Given the description of an element on the screen output the (x, y) to click on. 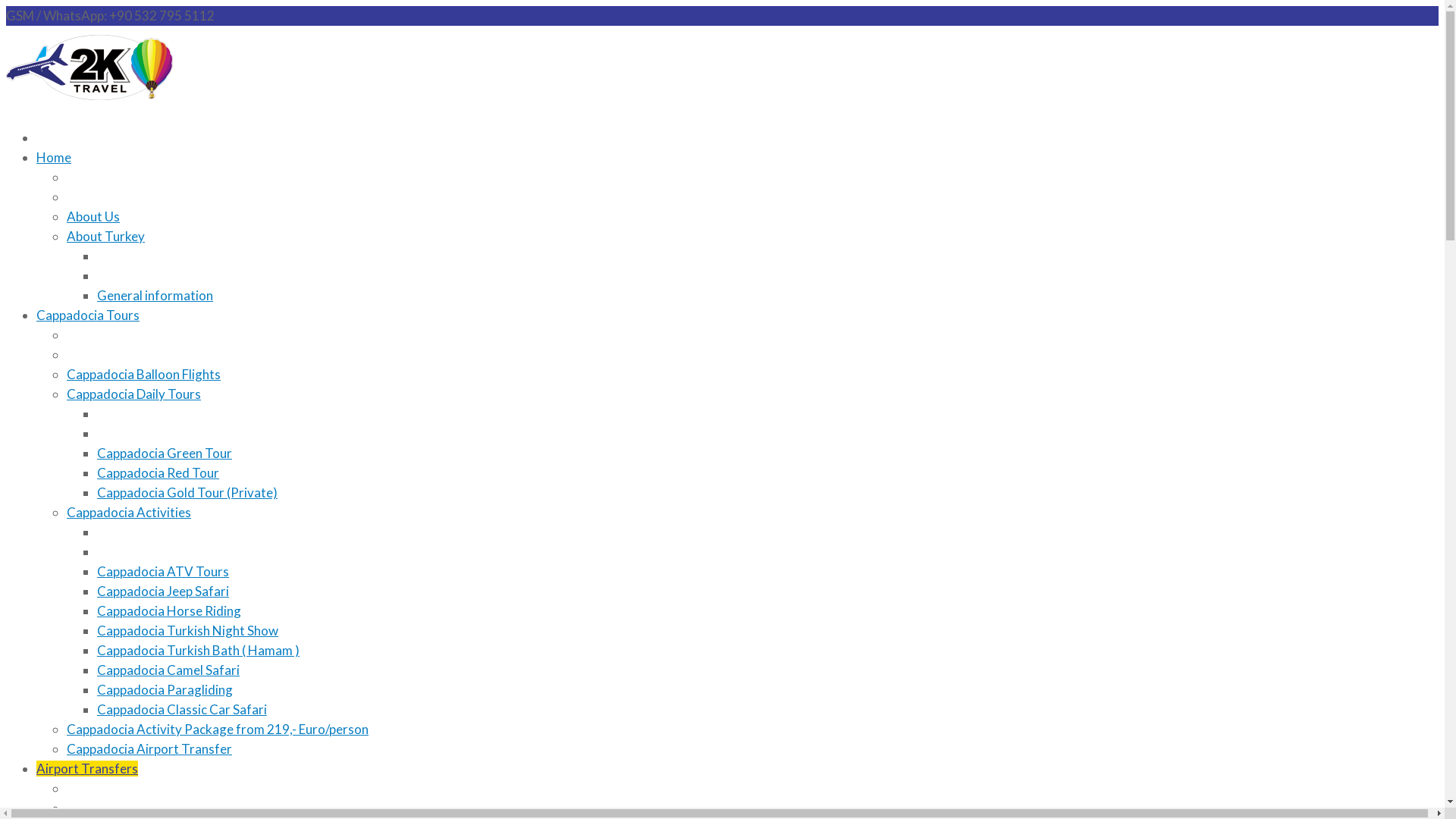
2K Travel Turkey Element type: hover (89, 67)
About Turkey Element type: text (105, 236)
Airport Transfers Element type: text (87, 768)
Cappadocia Camel Safari Element type: text (168, 669)
Home Element type: text (53, 157)
Cappadocia Turkish Bath ( Hamam ) Element type: text (198, 650)
About Us Element type: text (92, 216)
Cappadocia Airport Transfer Element type: text (149, 748)
Cappadocia Activities Element type: text (128, 512)
Cappadocia Paragliding Element type: text (164, 689)
Cappadocia Tours Element type: text (87, 315)
Cappadocia Green Tour Element type: text (164, 453)
Cappadocia Gold Tour (Private) Element type: text (187, 492)
Cappadocia Red Tour Element type: text (158, 472)
Cappadocia Activity Package from 219,- Euro/person Element type: text (217, 729)
2K Travel Turkey Element type: hover (89, 104)
Cappadocia Jeep Safari Element type: text (163, 591)
Cappadocia Daily Tours Element type: text (133, 393)
Cappadocia Balloon Flights Element type: text (143, 374)
Cappadocia Classic Car Safari Element type: text (181, 709)
General information Element type: text (155, 295)
Cappadocia Turkish Night Show Element type: text (187, 630)
Cappadocia ATV Tours Element type: text (163, 571)
Cappadocia Horse Riding Element type: text (169, 610)
